Given the description of an element on the screen output the (x, y) to click on. 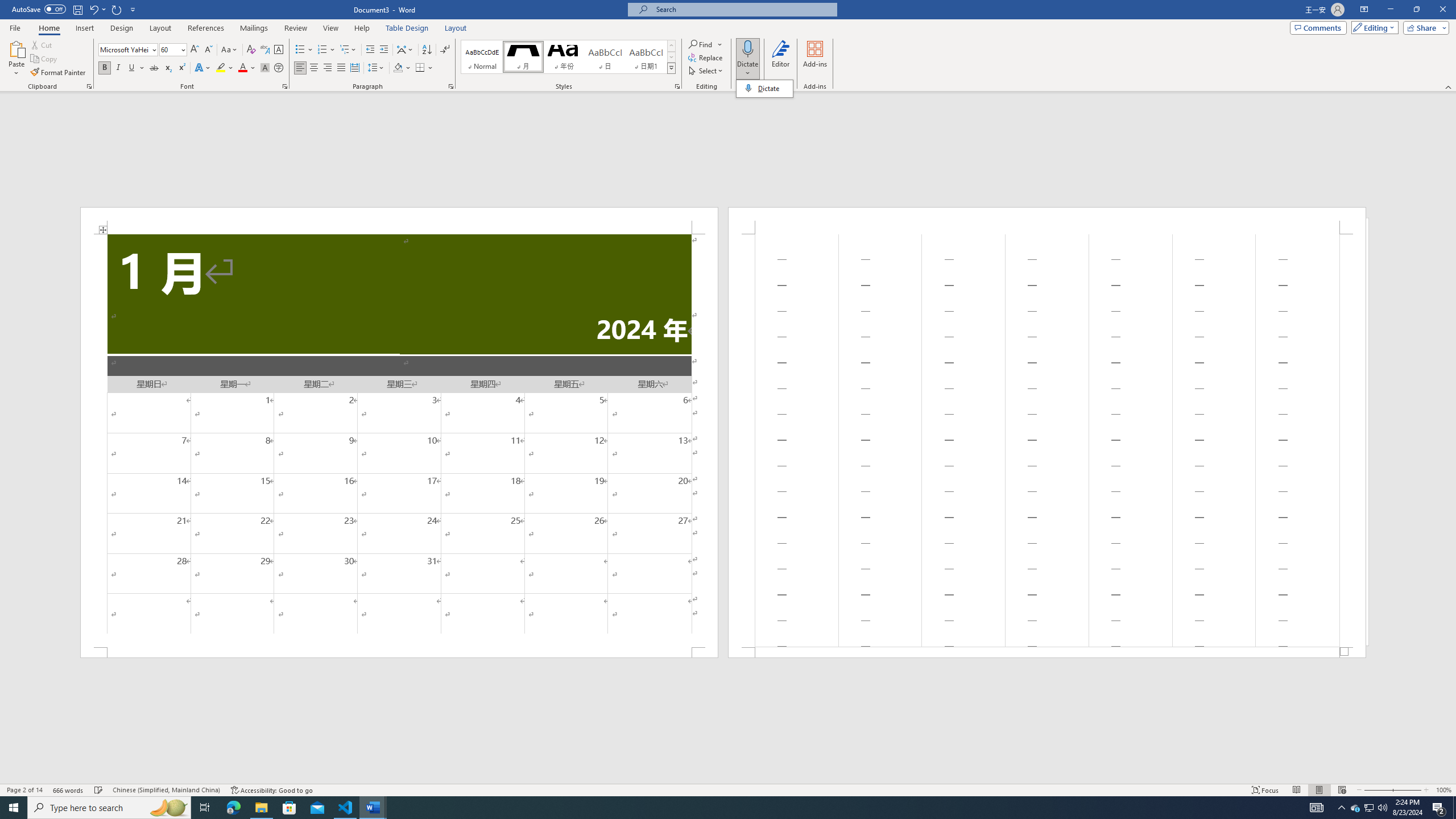
Ribbon Display Options (1364, 9)
Font (128, 49)
Styles (670, 67)
Clear Formatting (1355, 807)
Class: NetUIImage (250, 49)
Zoom Out (671, 68)
Font... (1377, 790)
Action Center, 2 new notifications (285, 85)
Page 2 content (1439, 807)
Shrink Font (1046, 440)
AutomationID: QuickStylesGallery (208, 49)
Character Border (568, 56)
Align Left (278, 49)
